Given the description of an element on the screen output the (x, y) to click on. 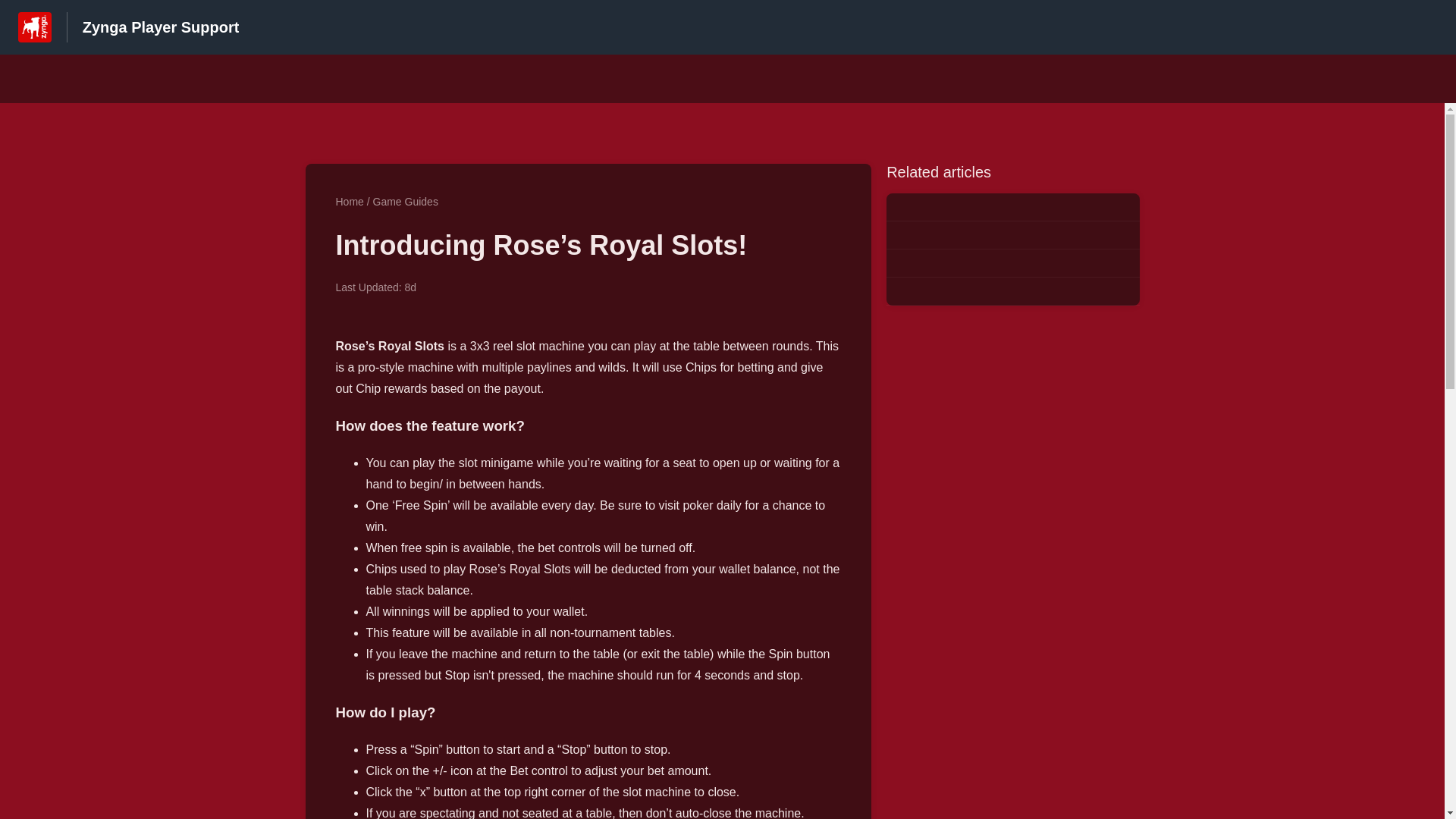
Game Guides (405, 201)
Zynga Player Support (161, 27)
Home (348, 201)
